Given the description of an element on the screen output the (x, y) to click on. 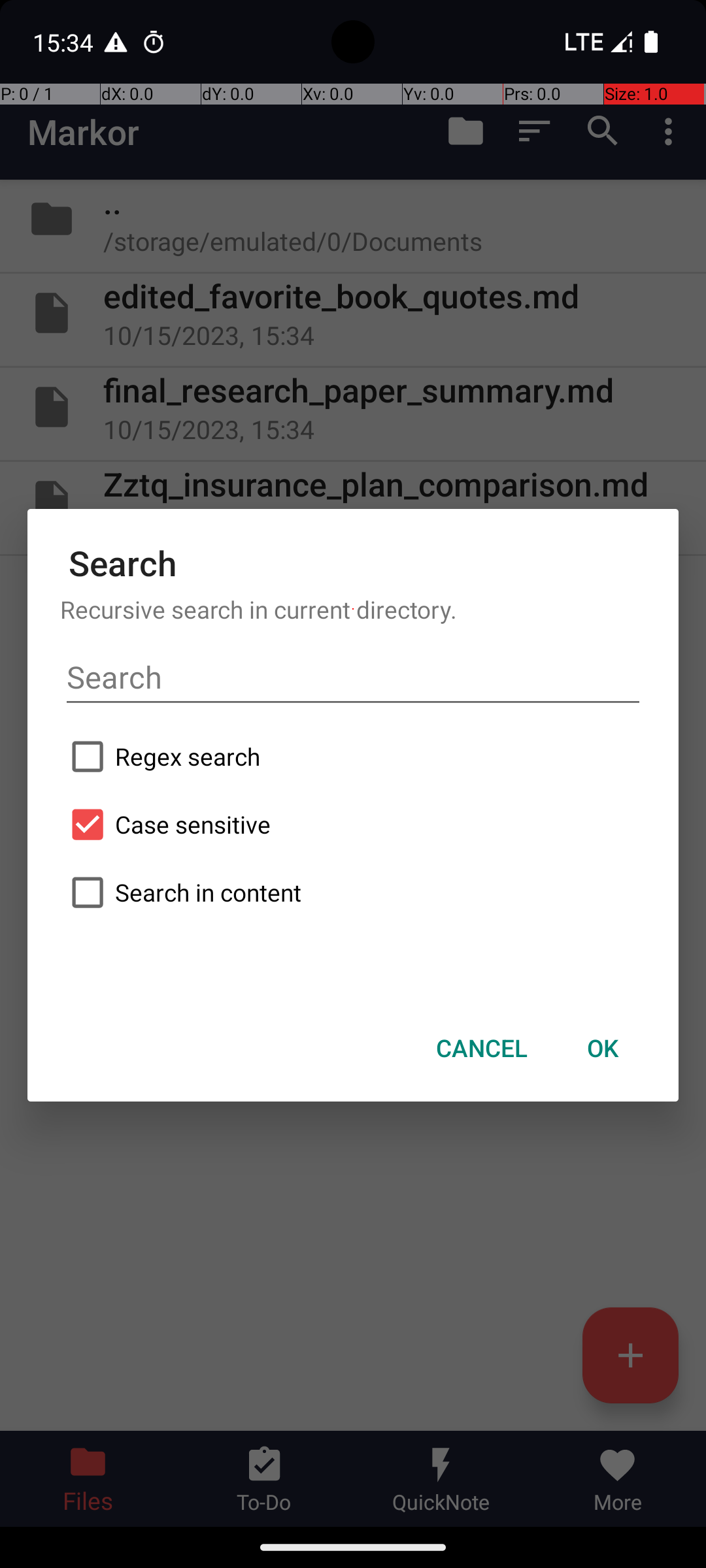
Recursive search in current directory. Element type: android.widget.TextView (352, 608)
Regex search Element type: android.widget.CheckBox (352, 756)
Case sensitive Element type: android.widget.CheckBox (352, 824)
Search in content Element type: android.widget.CheckBox (352, 892)
